Given the description of an element on the screen output the (x, y) to click on. 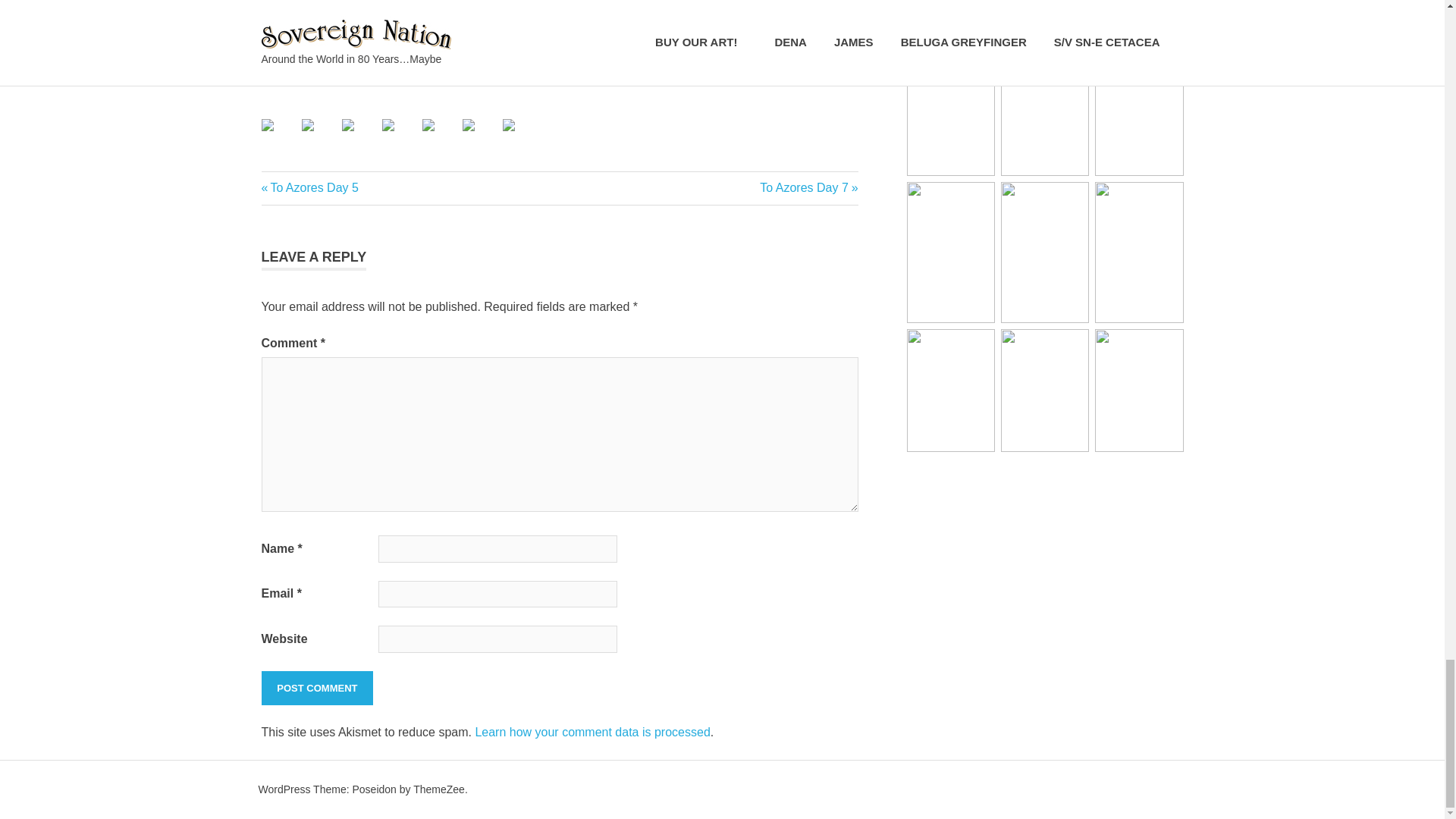
Pin it with Pinterest (387, 124)
Post Comment (316, 687)
Share on Reddit (346, 124)
Share on Twitter (307, 124)
Post Comment (316, 687)
Share on Reddit (358, 136)
Share on tumblr (481, 136)
Share by email (507, 124)
Pin it with Pinterest (400, 136)
Share on Facebook (266, 124)
Learn how your comment data is processed (592, 731)
Share on Twitter (309, 187)
Share on tumblr (319, 136)
